Given the description of an element on the screen output the (x, y) to click on. 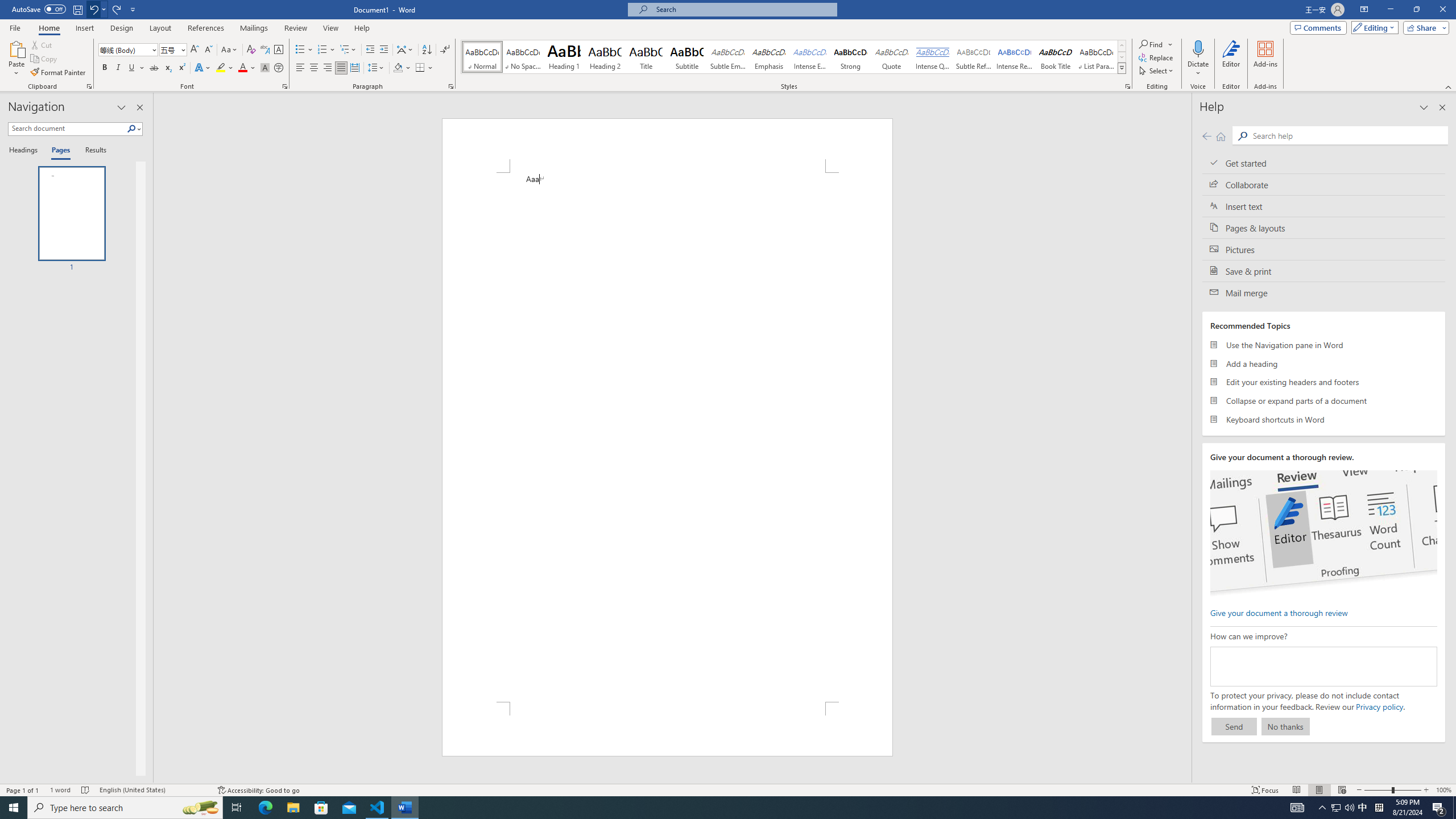
Subscript (167, 67)
Use the Navigation pane in Word (1323, 344)
Change Case (229, 49)
Subtitle (686, 56)
Subtle Reference (973, 56)
Mail merge (1323, 292)
Zoom (1392, 790)
Collaborate (1323, 184)
Cut (42, 44)
Book Title (1055, 56)
